Given the description of an element on the screen output the (x, y) to click on. 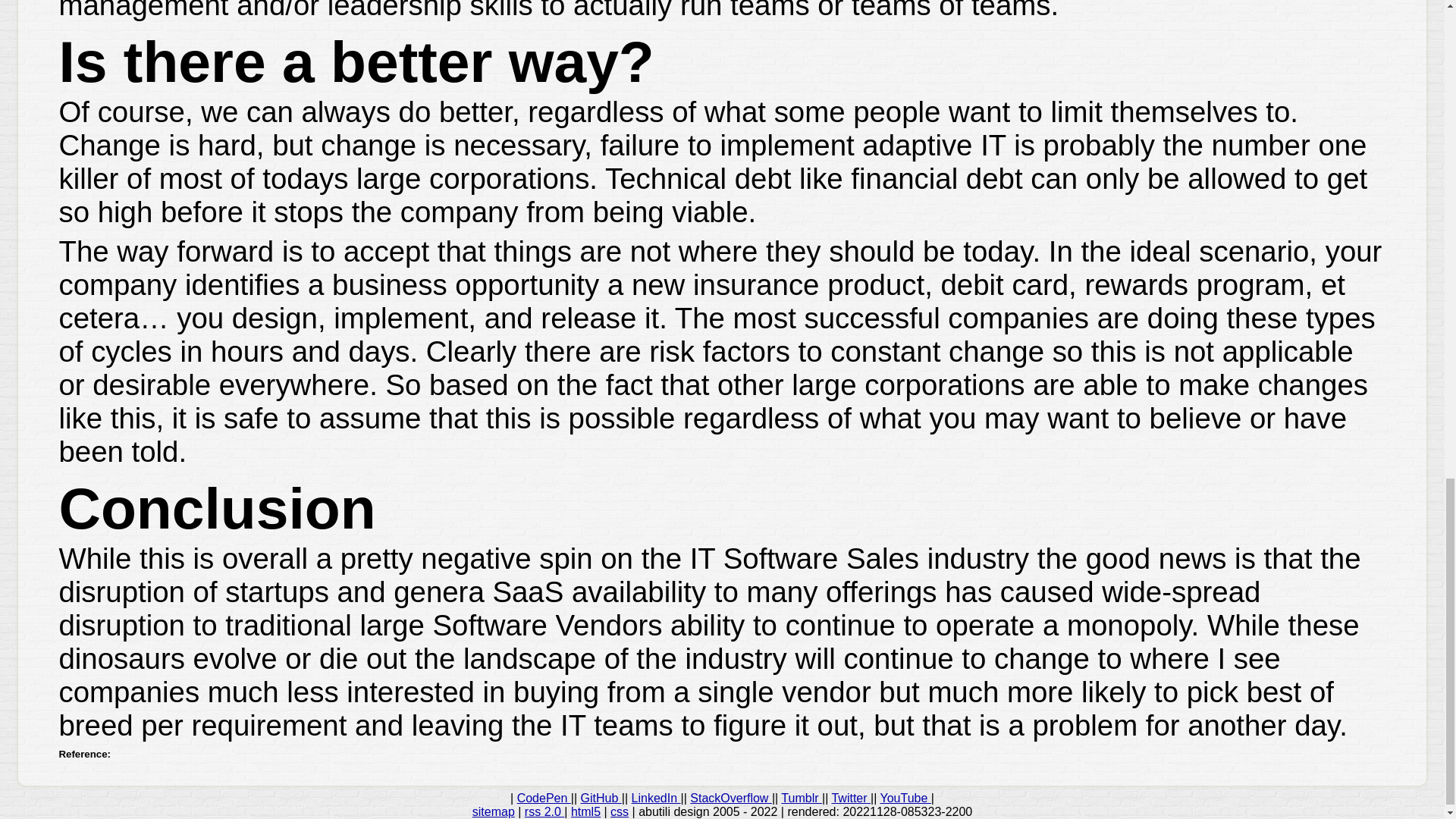
html5 (584, 811)
YouTube (904, 797)
Twitter (850, 797)
sitemap (493, 811)
rss 2.0 (544, 811)
CodePen (543, 797)
StackOverflow (730, 797)
GitHub (600, 797)
css (619, 811)
LinkedIn (656, 797)
Tumblr (801, 797)
